Given the description of an element on the screen output the (x, y) to click on. 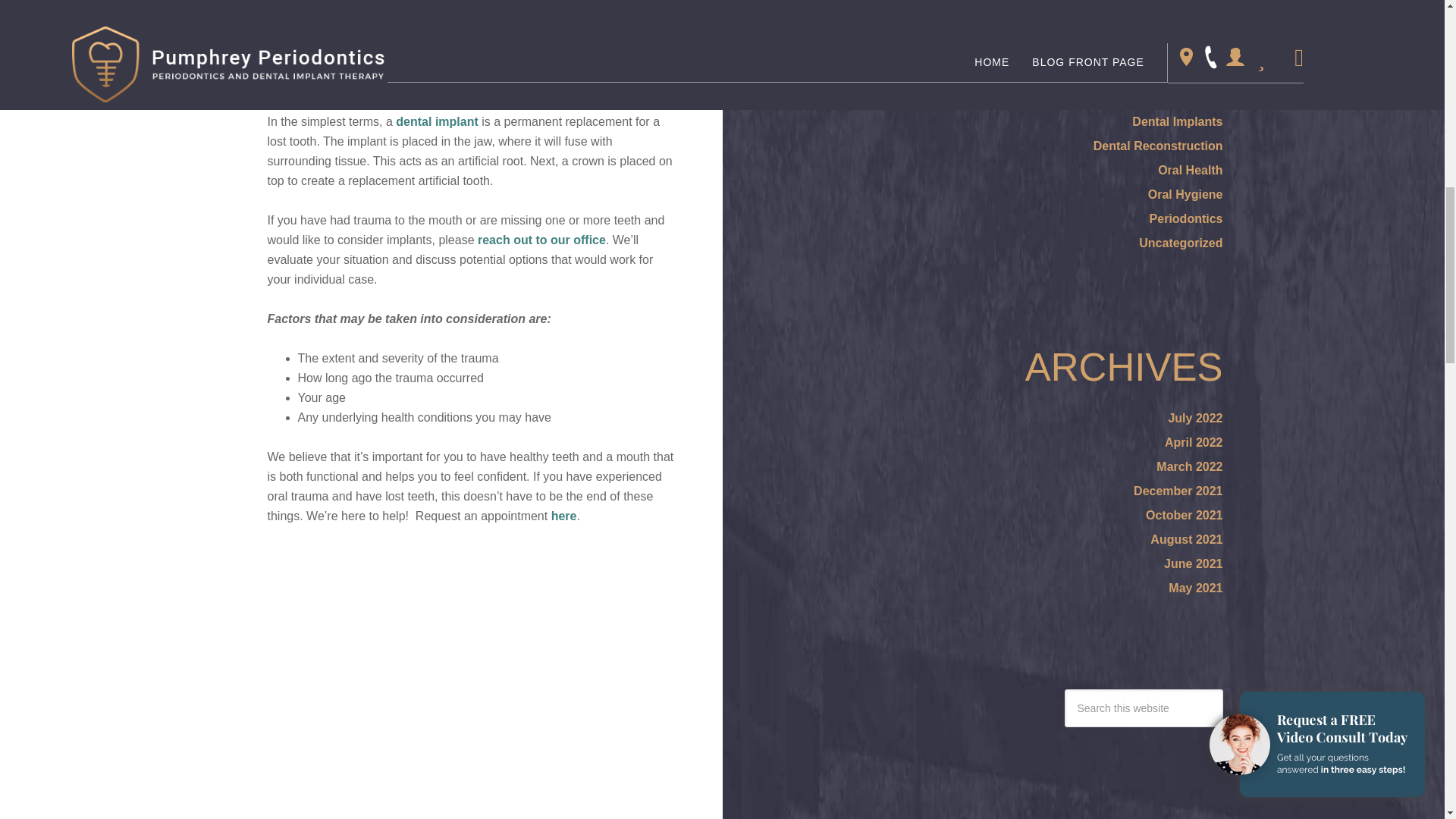
Dental Implants (1177, 121)
Oral Health (1190, 169)
Oral Hygiene (1185, 194)
Periodontics (1186, 218)
April 2022 (1193, 441)
December 2021 (1178, 490)
Dental Reconstruction (1158, 145)
Uncategorized (1180, 242)
dental implant (436, 121)
March 2022 (1189, 466)
July 2022 (1195, 418)
reach out to our office (541, 239)
